Given the description of an element on the screen output the (x, y) to click on. 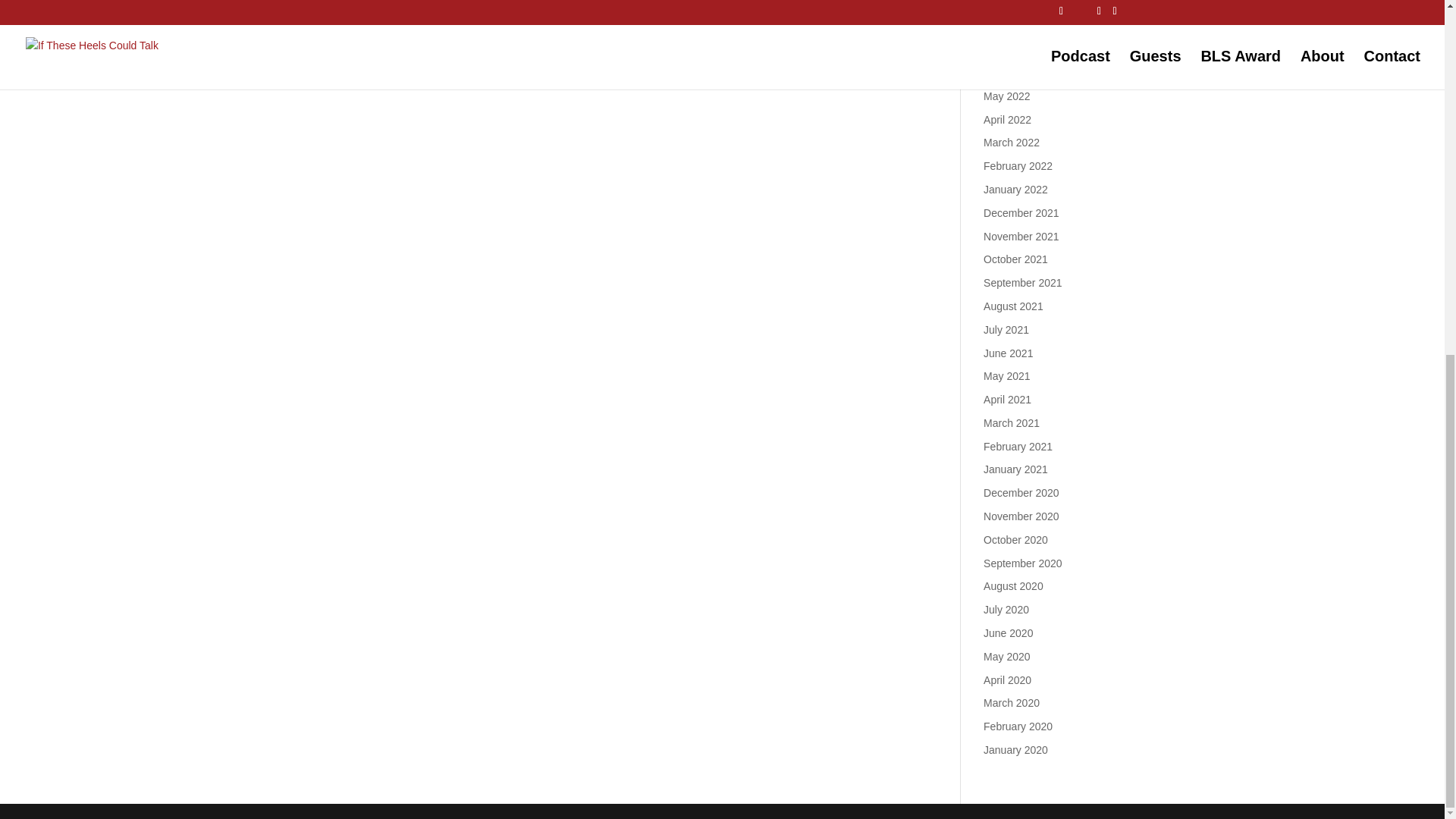
April 2022 (1007, 119)
June 2022 (1008, 72)
January 2022 (1016, 189)
September 2022 (1023, 4)
August 2022 (1013, 25)
February 2022 (1018, 165)
May 2022 (1006, 96)
November 2021 (1021, 236)
December 2021 (1021, 213)
October 2021 (1016, 259)
July 2022 (1006, 49)
March 2022 (1011, 142)
